Given the description of an element on the screen output the (x, y) to click on. 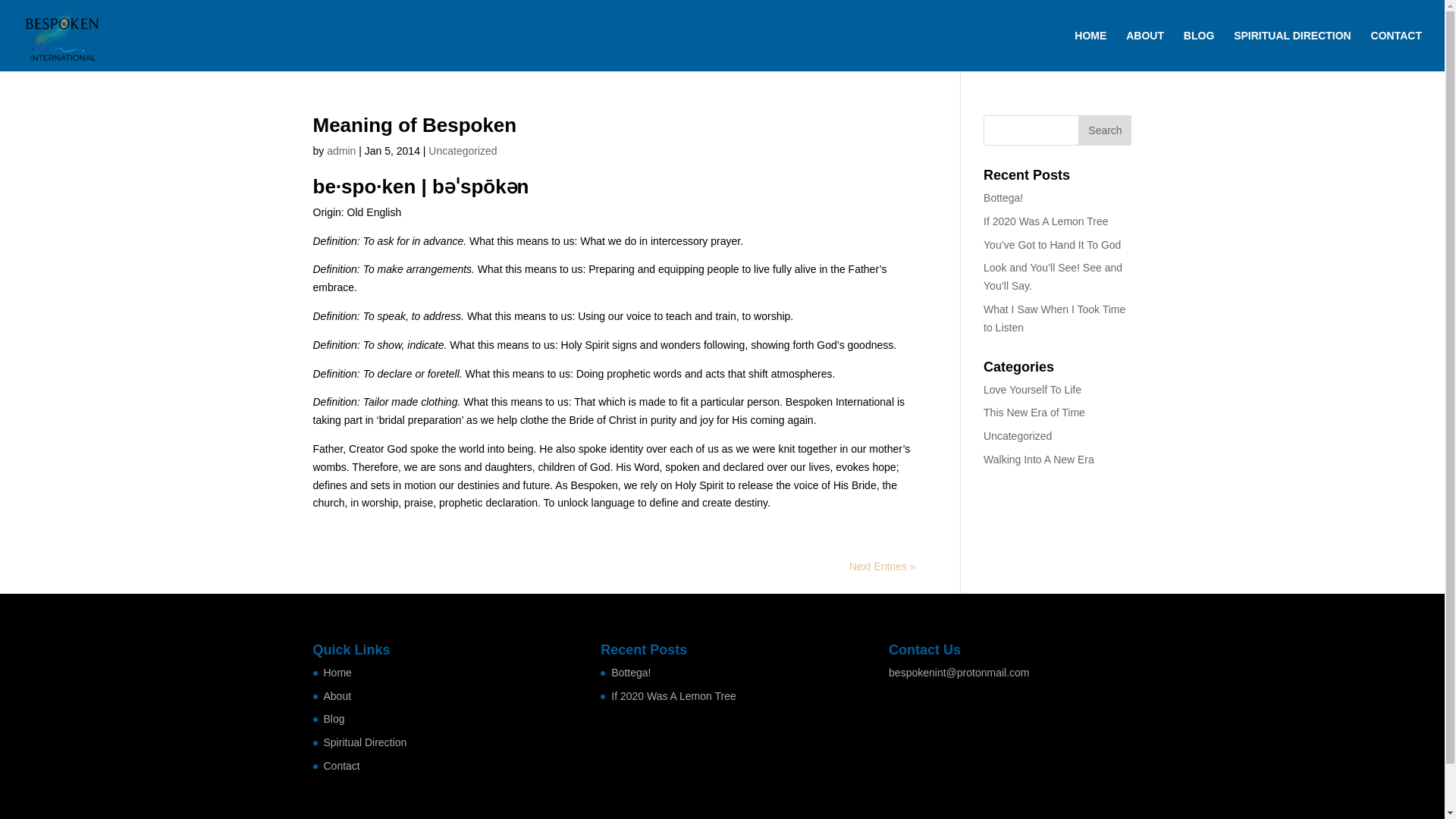
admin (340, 150)
Bottega! (1003, 197)
SPIRITUAL DIRECTION (1292, 50)
Home (336, 672)
This New Era of Time (1034, 412)
ABOUT (1144, 50)
Spiritual Direction (364, 742)
CONTACT (1396, 50)
Blog (333, 718)
Walking Into A New Era (1039, 459)
